Given the description of an element on the screen output the (x, y) to click on. 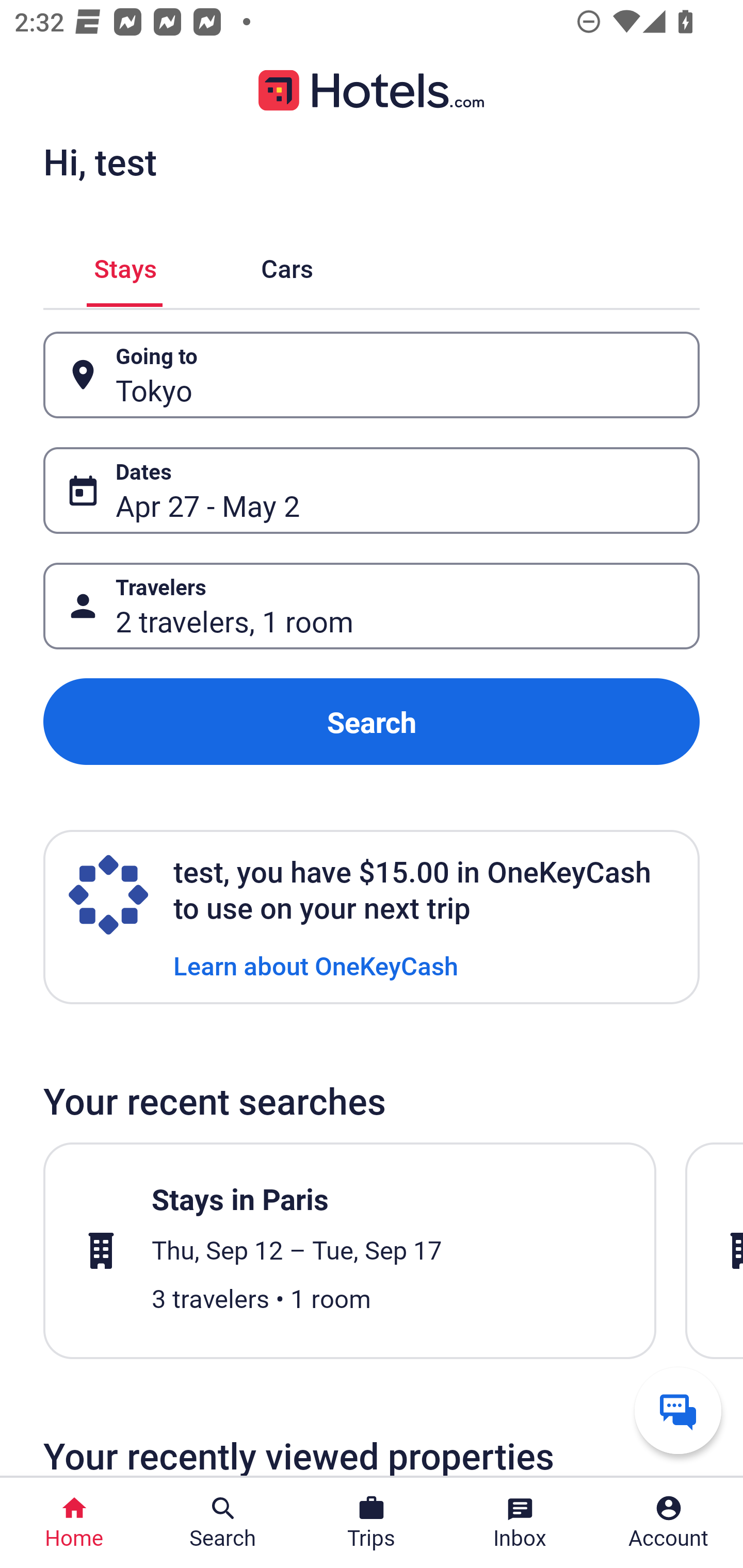
Hi, test (99, 161)
Cars (286, 265)
Going to Button Tokyo (371, 375)
Dates Button Apr 27 - May 2 (371, 489)
Travelers Button 2 travelers, 1 room (371, 605)
Search (371, 721)
Learn about OneKeyCash Learn about OneKeyCash Link (315, 964)
Get help from a virtual agent (677, 1410)
Search Search Button (222, 1522)
Trips Trips Button (371, 1522)
Inbox Inbox Button (519, 1522)
Account Profile. Button (668, 1522)
